Given the description of an element on the screen output the (x, y) to click on. 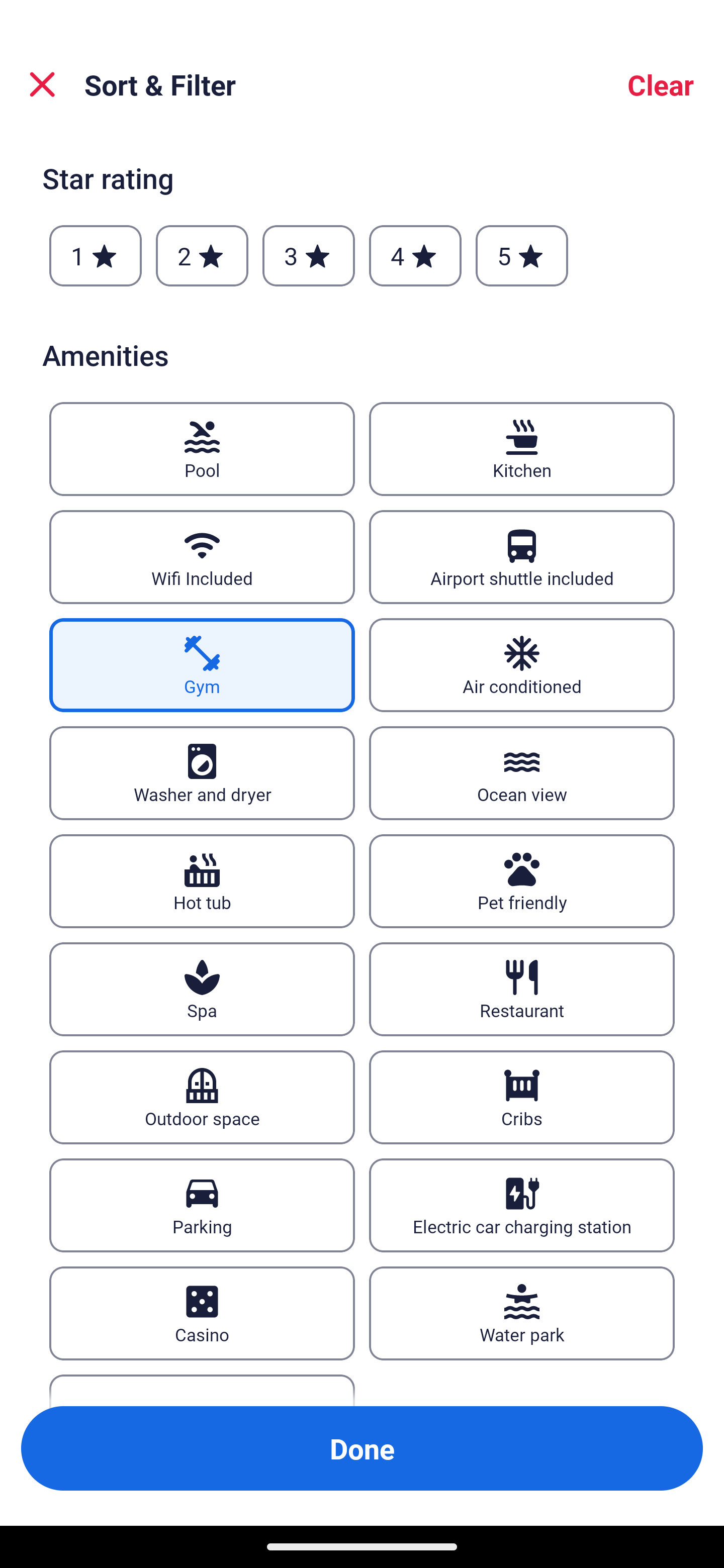
Close Sort and Filter (42, 84)
Clear (660, 84)
1 (95, 255)
2 (201, 255)
3 (308, 255)
4 (415, 255)
5 (521, 255)
Pool (201, 448)
Kitchen (521, 448)
Wifi Included (201, 556)
Airport shuttle included (521, 556)
Gym (201, 664)
Air conditioned (521, 664)
Washer and dryer (201, 772)
Ocean view (521, 772)
Hot tub (201, 881)
Pet friendly (521, 881)
Spa (201, 989)
Restaurant (521, 989)
Outdoor space (201, 1097)
Cribs (521, 1097)
Parking (201, 1205)
Electric car charging station (521, 1205)
Casino (201, 1313)
Water park (521, 1313)
Apply and close Sort and Filter Done (361, 1448)
